Given the description of an element on the screen output the (x, y) to click on. 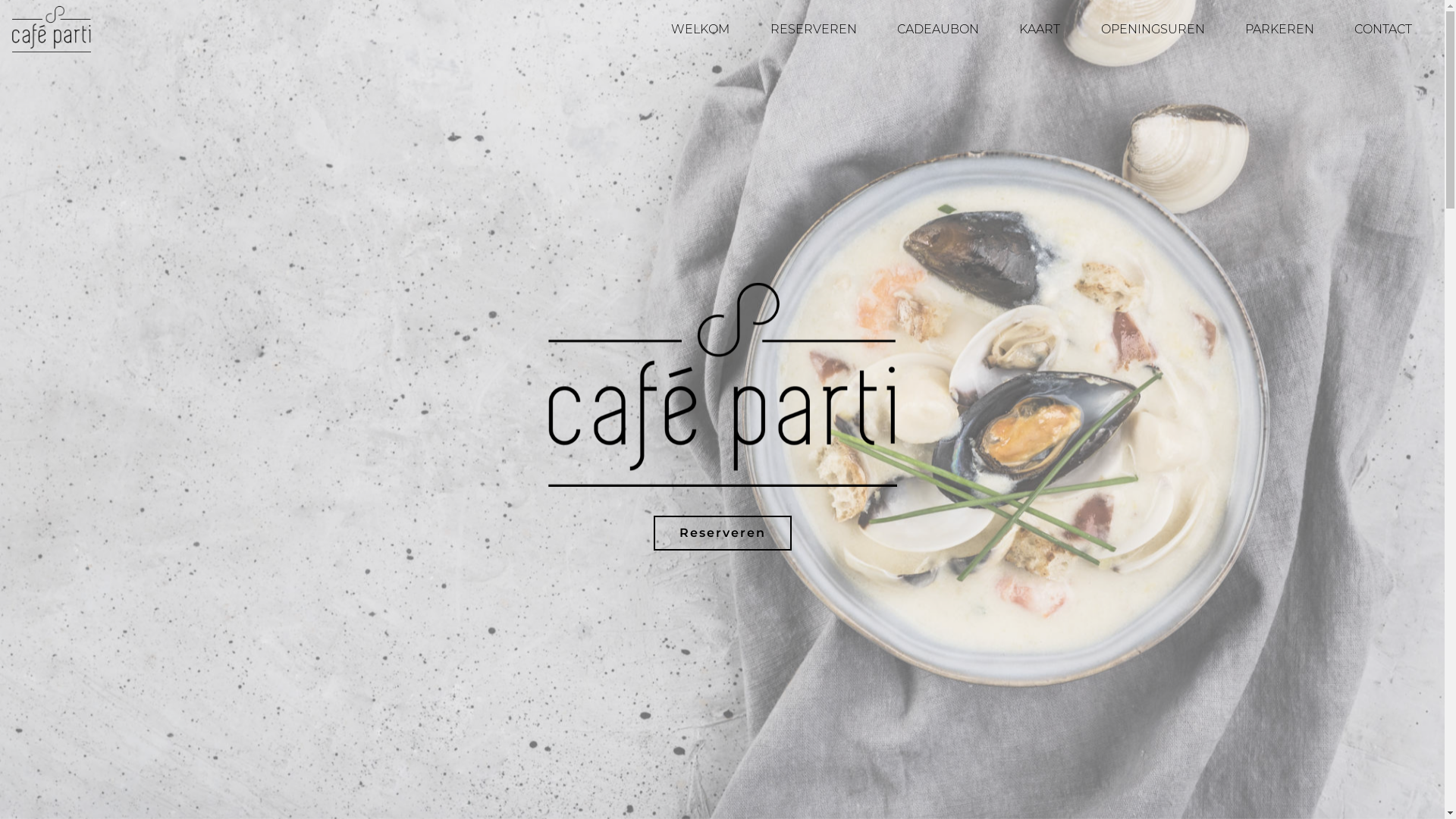
OPENINGSUREN Element type: text (1152, 29)
KAART Element type: text (1039, 29)
CADEAUBON Element type: text (937, 29)
CONTACT Element type: text (1383, 29)
RESERVEREN Element type: text (812, 29)
Reserveren Element type: text (722, 532)
PARKEREN Element type: text (1278, 29)
WELKOM Element type: text (700, 29)
